Given the description of an element on the screen output the (x, y) to click on. 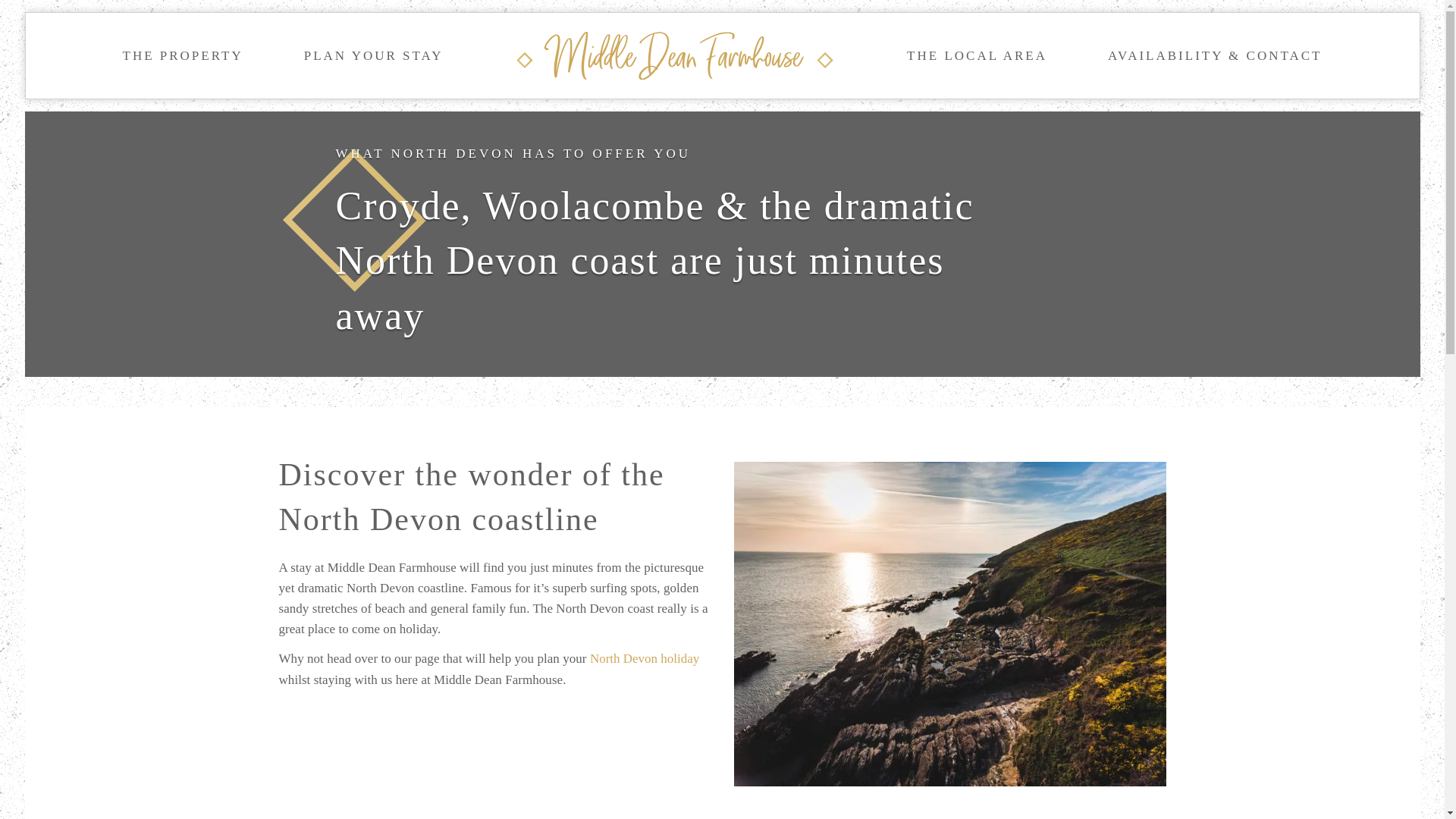
THE LOCAL AREA (976, 55)
North Devon holiday (643, 658)
PLAN YOUR STAY (373, 55)
THE PROPERTY (183, 55)
